Given the description of an element on the screen output the (x, y) to click on. 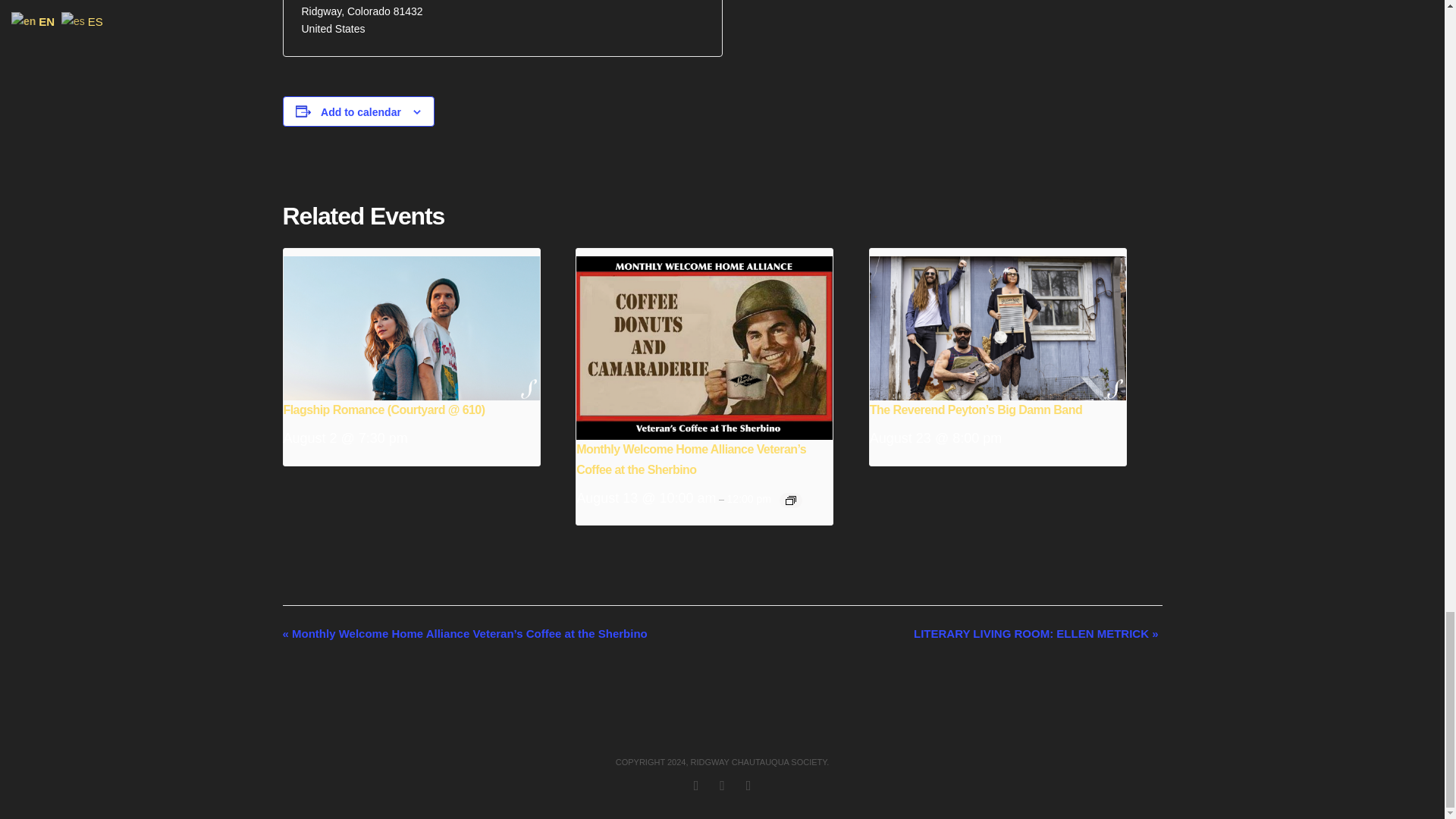
Colorado (368, 10)
Event Series (791, 500)
